Given the description of an element on the screen output the (x, y) to click on. 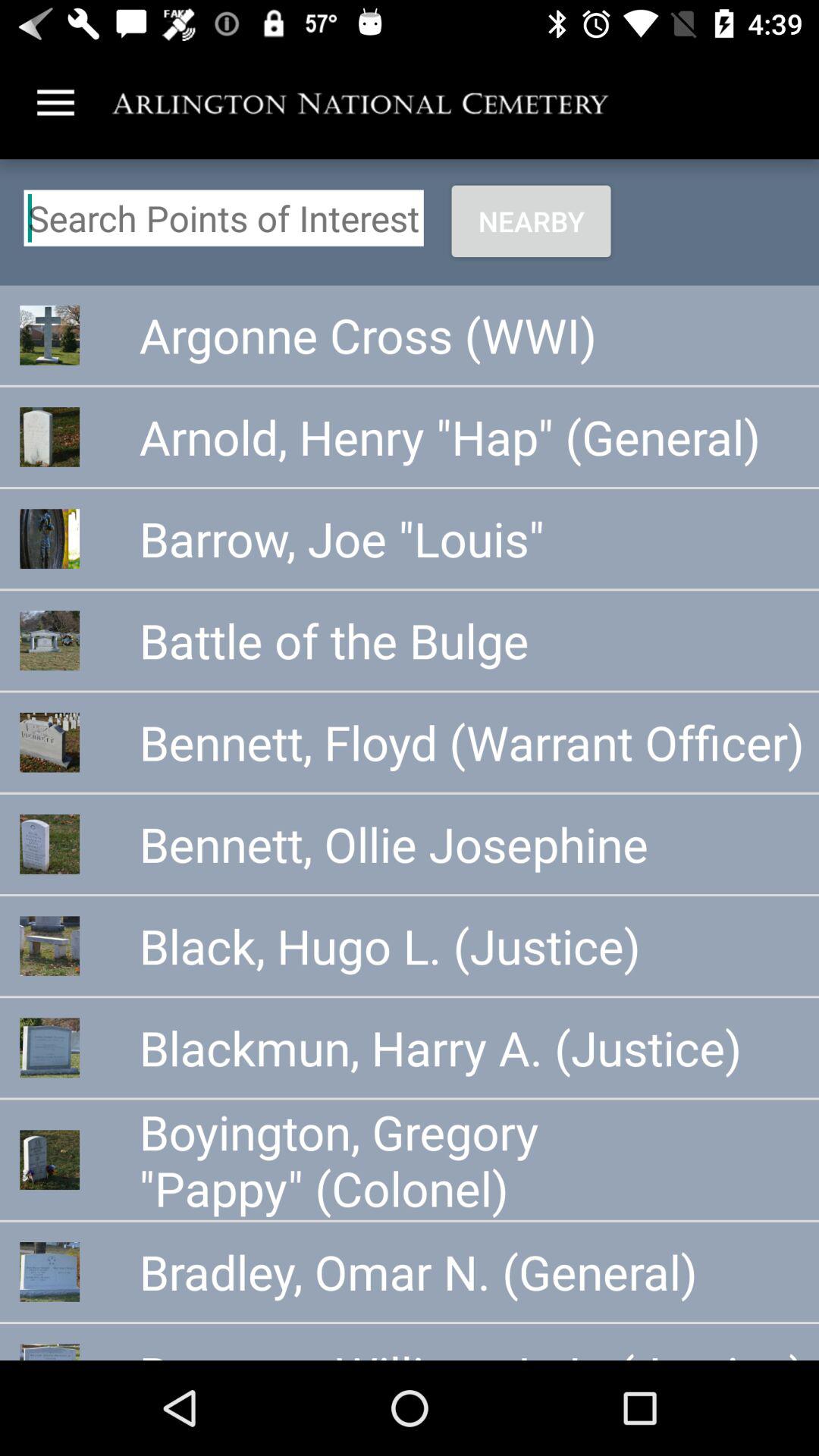
search points of interest (223, 217)
